Given the description of an element on the screen output the (x, y) to click on. 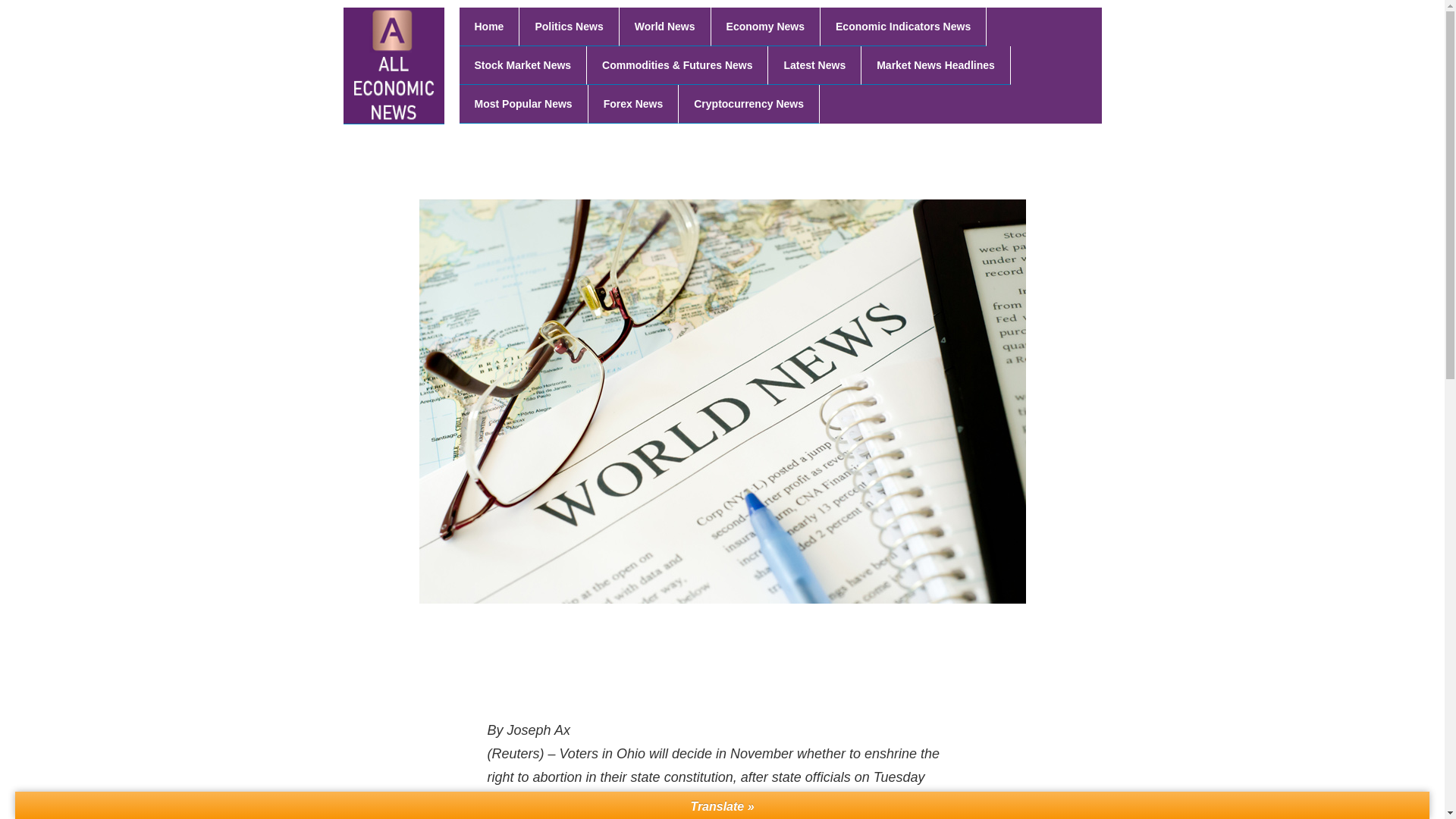
Economic Indicators News (904, 26)
Stock Market News (524, 65)
Politics News (568, 26)
Home (489, 26)
Forex News (633, 104)
Most Popular News (524, 104)
Economy News (766, 26)
Latest News (814, 65)
Market News Headlines (935, 65)
World News (665, 26)
